Given the description of an element on the screen output the (x, y) to click on. 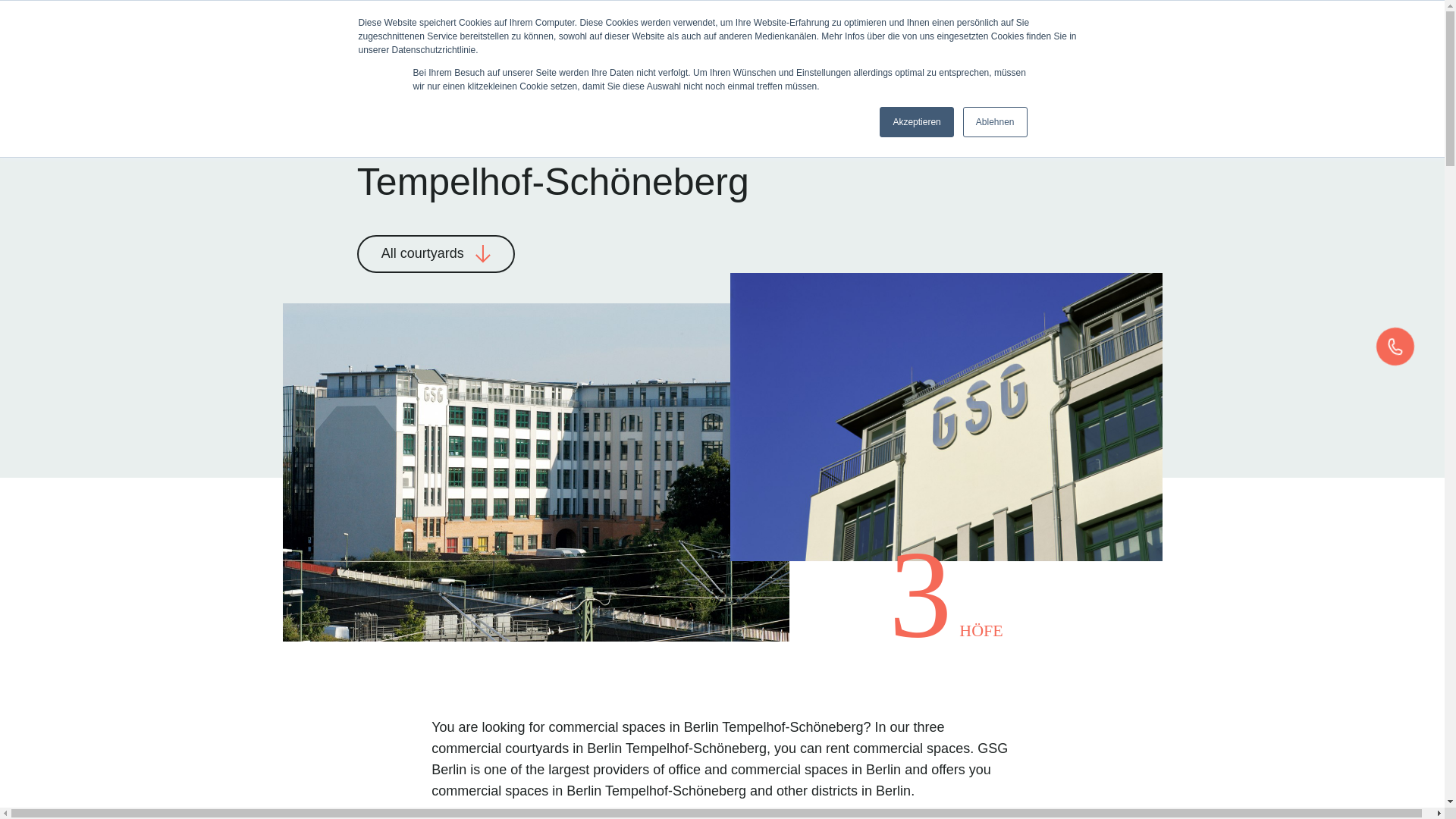
All courtyards (435, 253)
Commercial courtyards (575, 48)
Immobiliensuche (1064, 53)
Company (724, 48)
News (818, 48)
Ablehnen (994, 122)
tempelhof-schoeneberg-2 (945, 416)
Akzeptieren (916, 122)
